Given the description of an element on the screen output the (x, y) to click on. 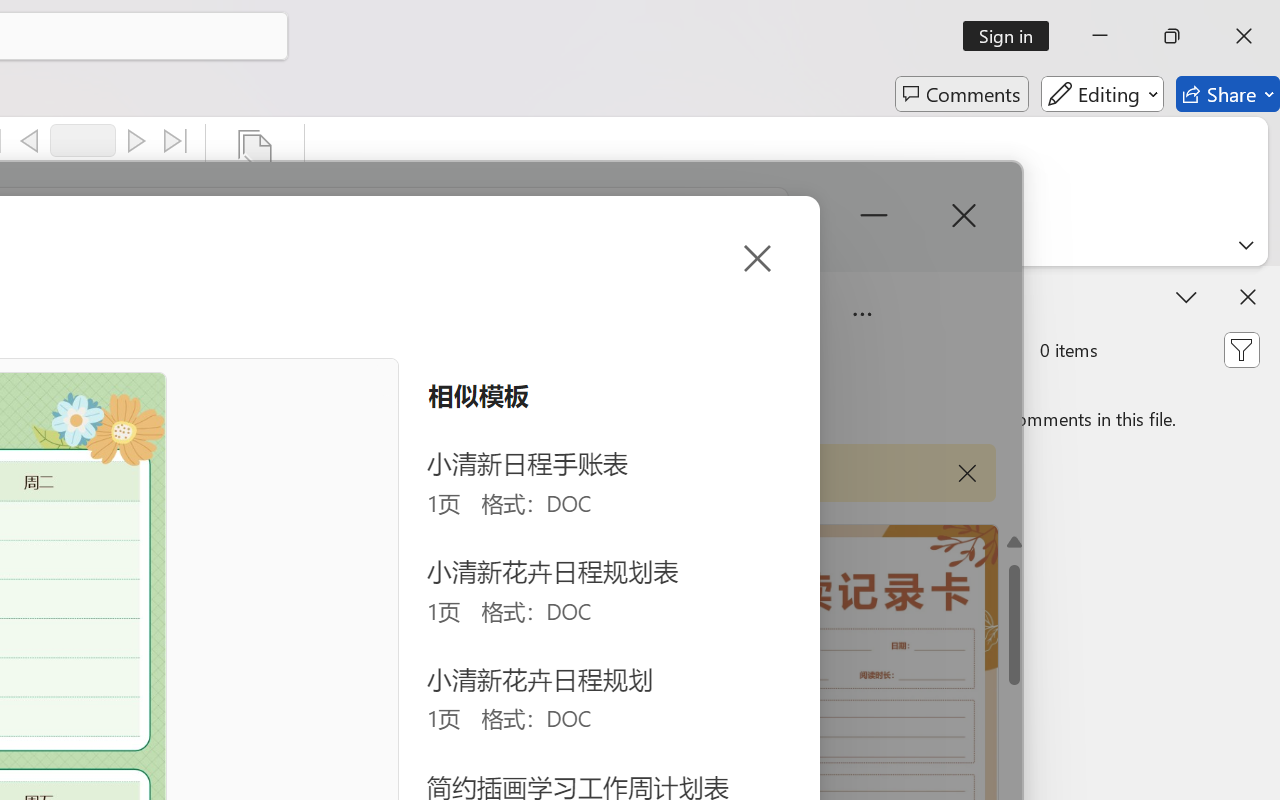
Next (136, 141)
Filter (1241, 350)
Last (175, 141)
Sign in (1012, 35)
Finish & Merge (255, 179)
Previous (29, 141)
Record (83, 140)
New comment (866, 350)
